Given the description of an element on the screen output the (x, y) to click on. 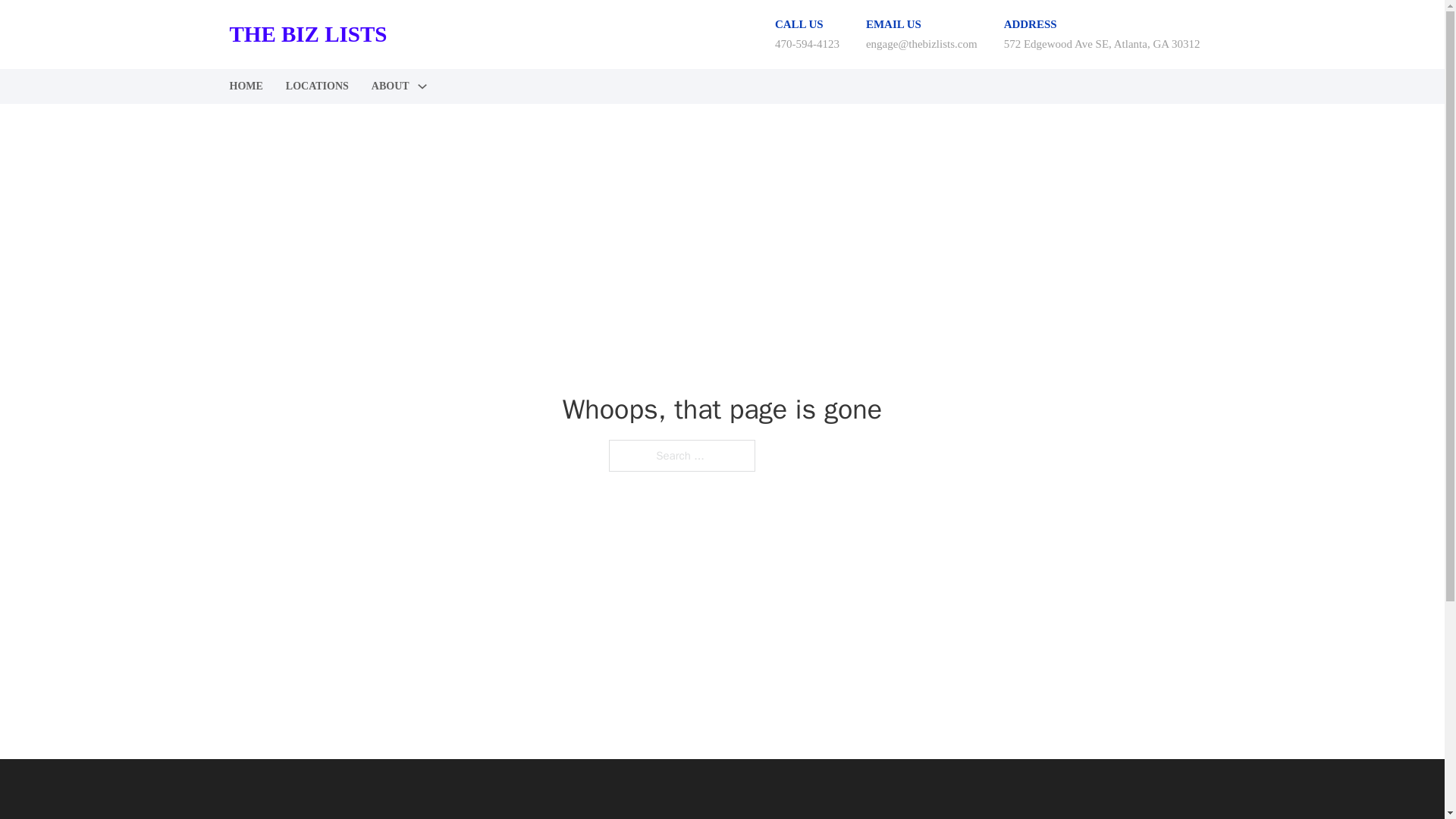
THE BIZ LISTS (307, 34)
HOME (245, 85)
LOCATIONS (317, 85)
470-594-4123 (807, 43)
THE BIZ LISTS (307, 817)
